Given the description of an element on the screen output the (x, y) to click on. 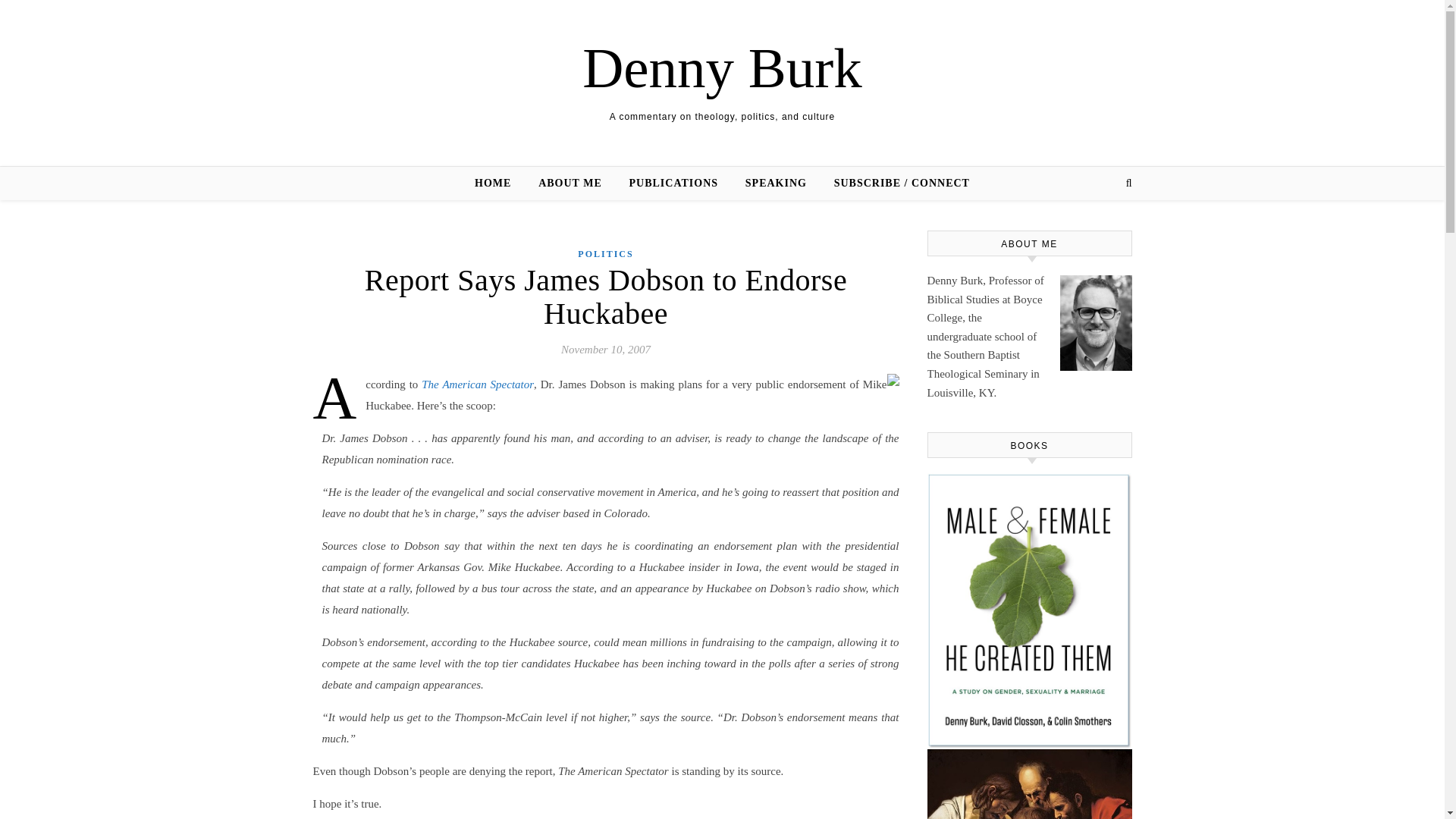
ABOUT ME (569, 183)
HOME (498, 183)
PUBLICATIONS (673, 183)
POLITICS (605, 253)
SPEAKING (775, 183)
DennyAbout (1095, 323)
Denny Burk (721, 67)
The American Spectator (478, 384)
